Given the description of an element on the screen output the (x, y) to click on. 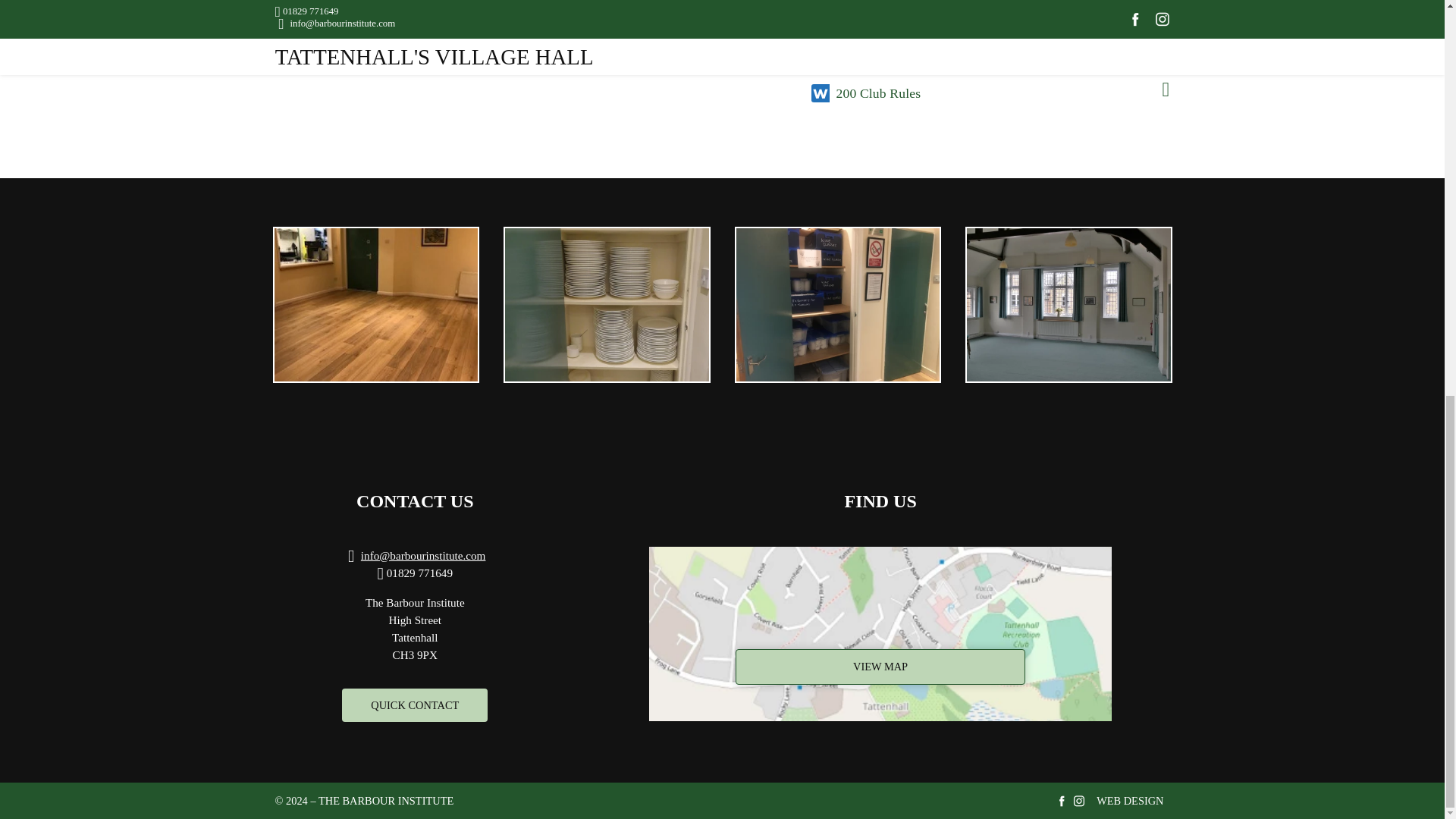
VIEW MAP (880, 634)
200 Club Form (999, 56)
QUICK CONTACT (414, 705)
Visit our Instagram Profile (1077, 800)
200 Club Rules (999, 93)
Visit our Facebook Page (1061, 800)
Download: 200 Club Rules 2023- 2024 (999, 93)
